Given the description of an element on the screen output the (x, y) to click on. 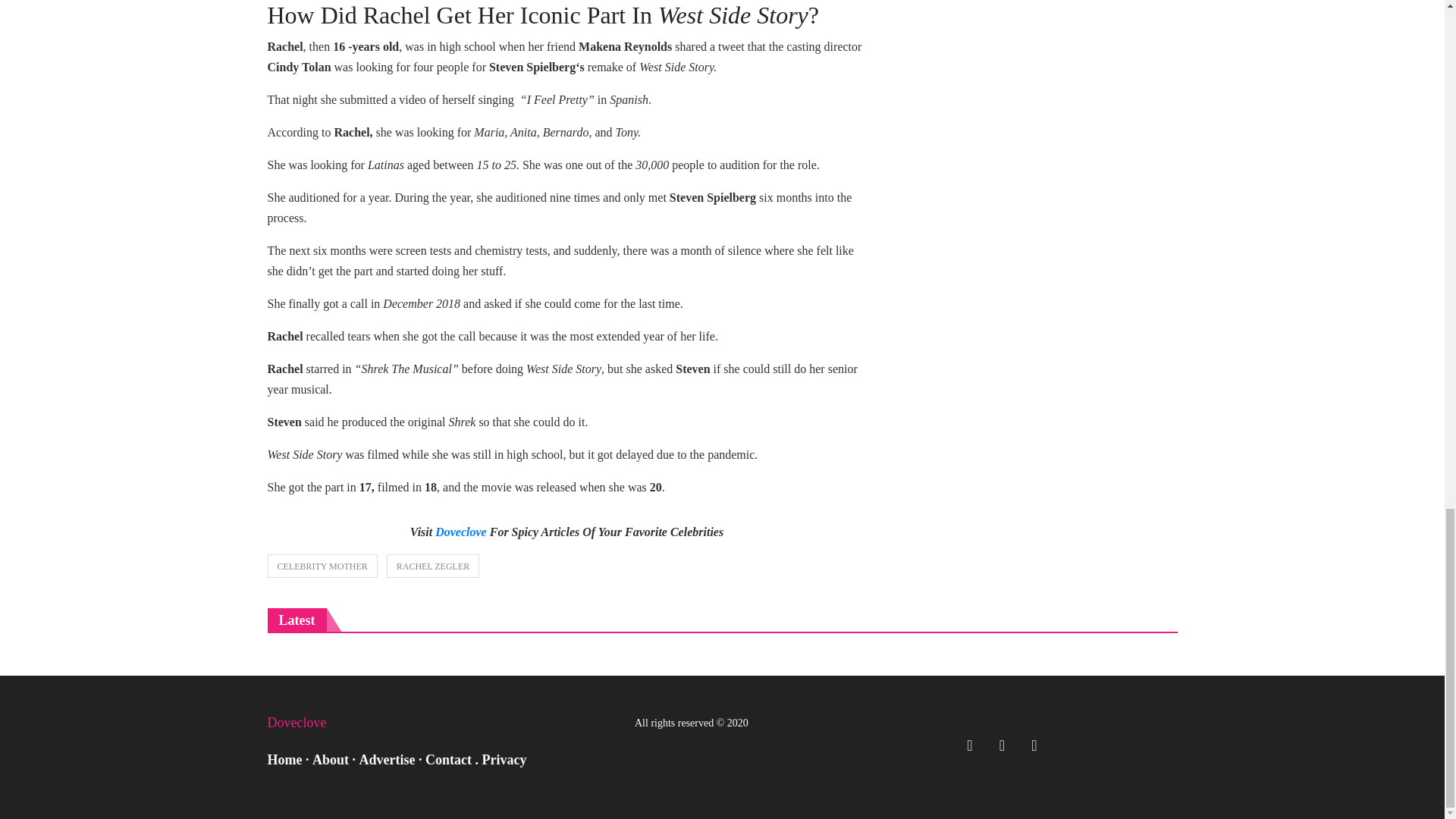
Privacy (503, 759)
Home (283, 759)
Doveclove (460, 531)
Contact (448, 759)
CELEBRITY MOTHER (321, 566)
Advertise (386, 759)
About (331, 759)
RACHEL ZEGLER (433, 566)
